Given the description of an element on the screen output the (x, y) to click on. 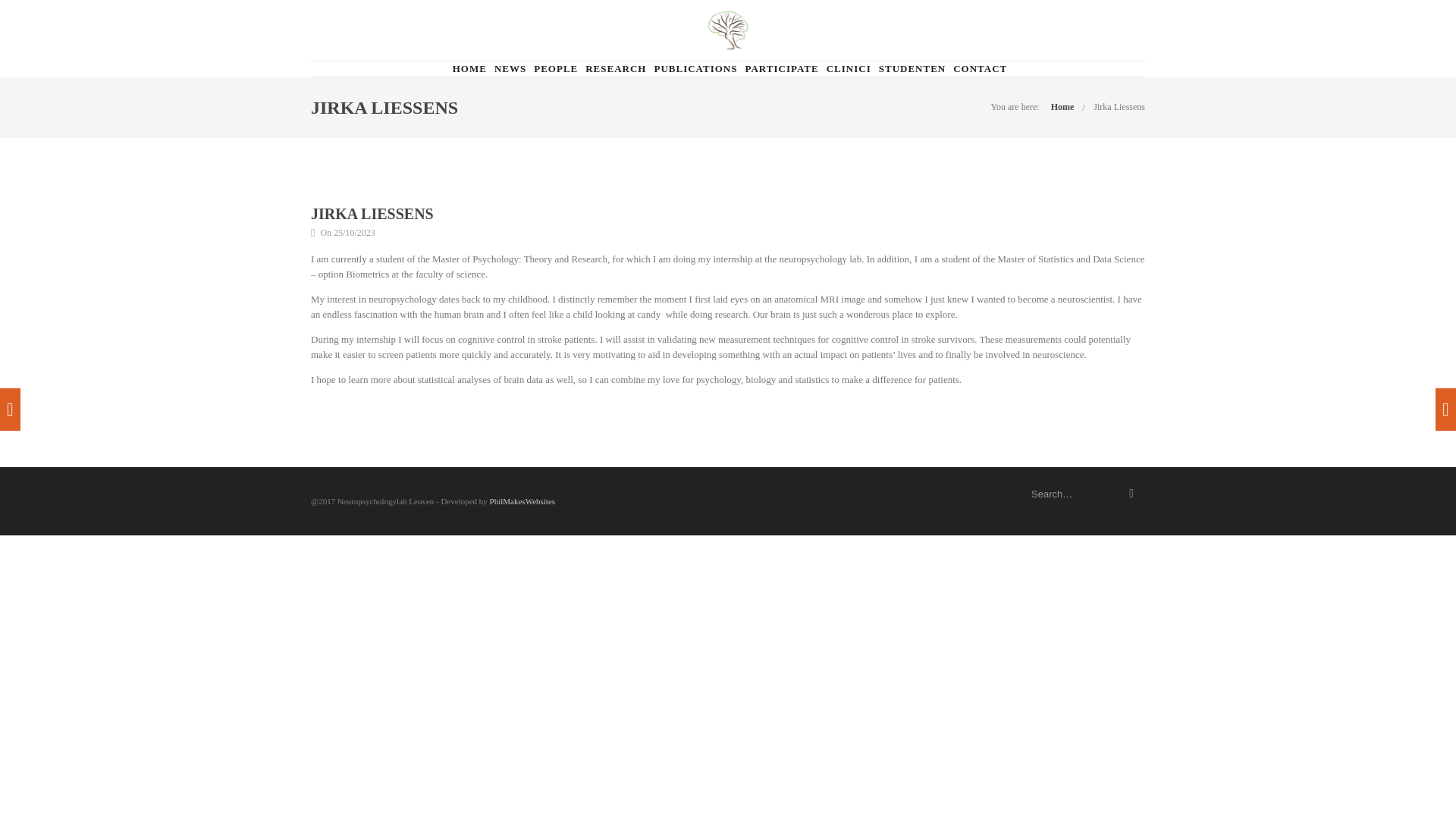
Home (1062, 106)
STUDENTEN (911, 68)
NEWS (510, 68)
JIRKA LIESSENS (372, 213)
Jirka Liessens (1118, 106)
CONTACT (980, 68)
RESEARCH (615, 68)
PARTICIPATE (781, 68)
HOME (469, 68)
PhilMakesWebsites (522, 501)
